Given the description of an element on the screen output the (x, y) to click on. 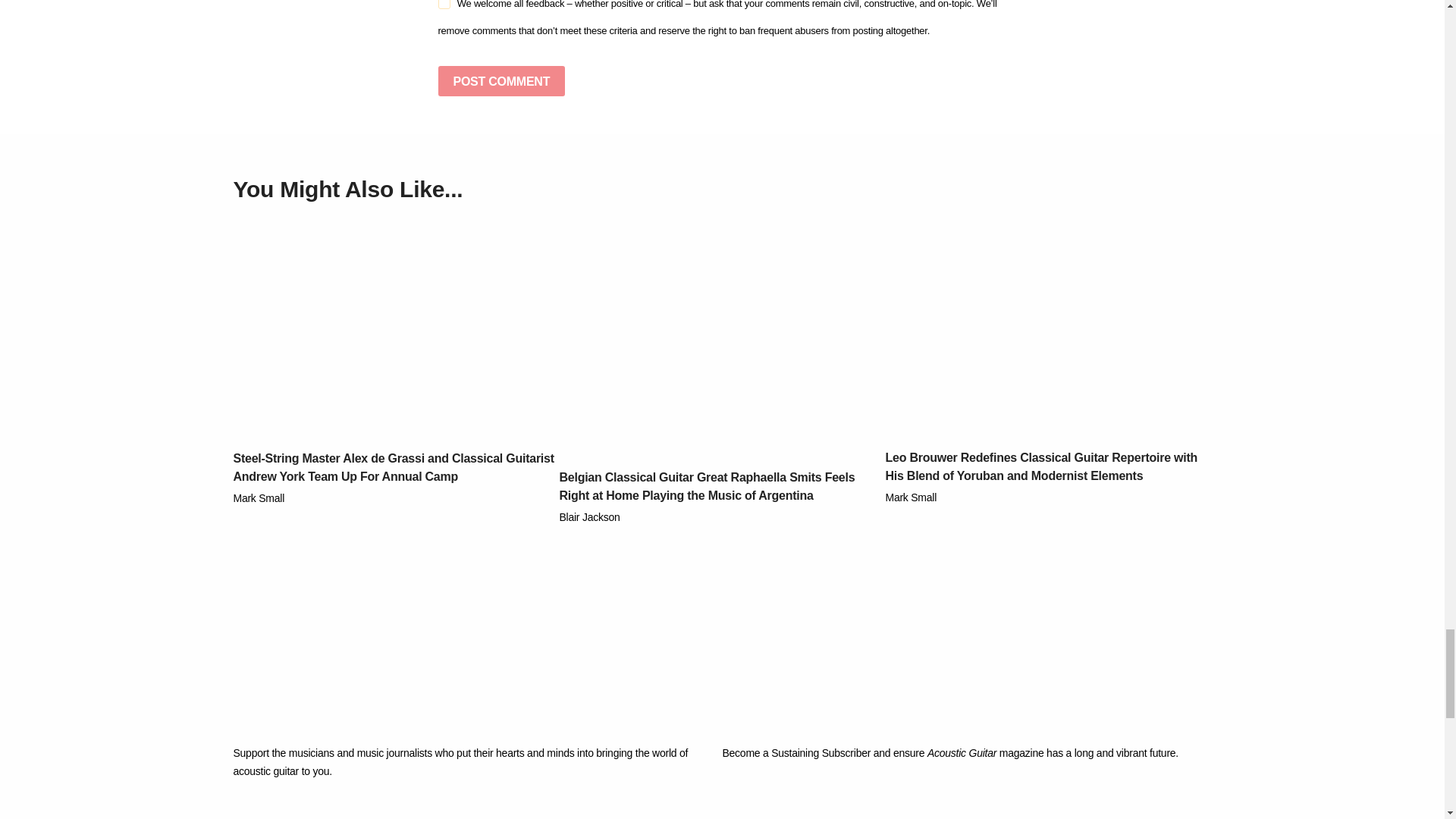
Posts by Blair Jackson (589, 517)
Posts by Mark Small (911, 497)
Posts by Mark Small (258, 498)
on (443, 4)
